Given the description of an element on the screen output the (x, y) to click on. 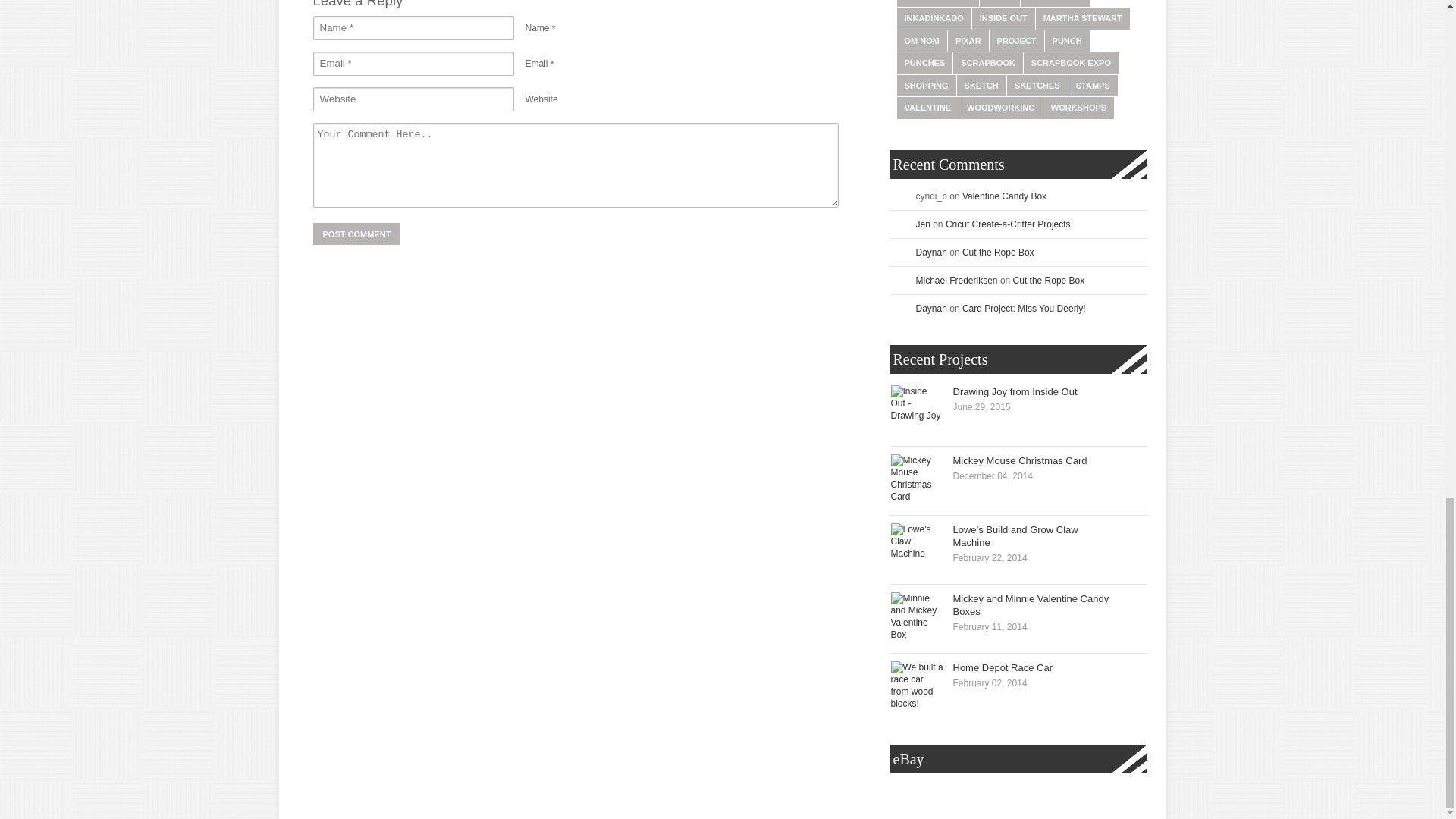
Post Comment (356, 233)
Post Comment (356, 233)
